Given the description of an element on the screen output the (x, y) to click on. 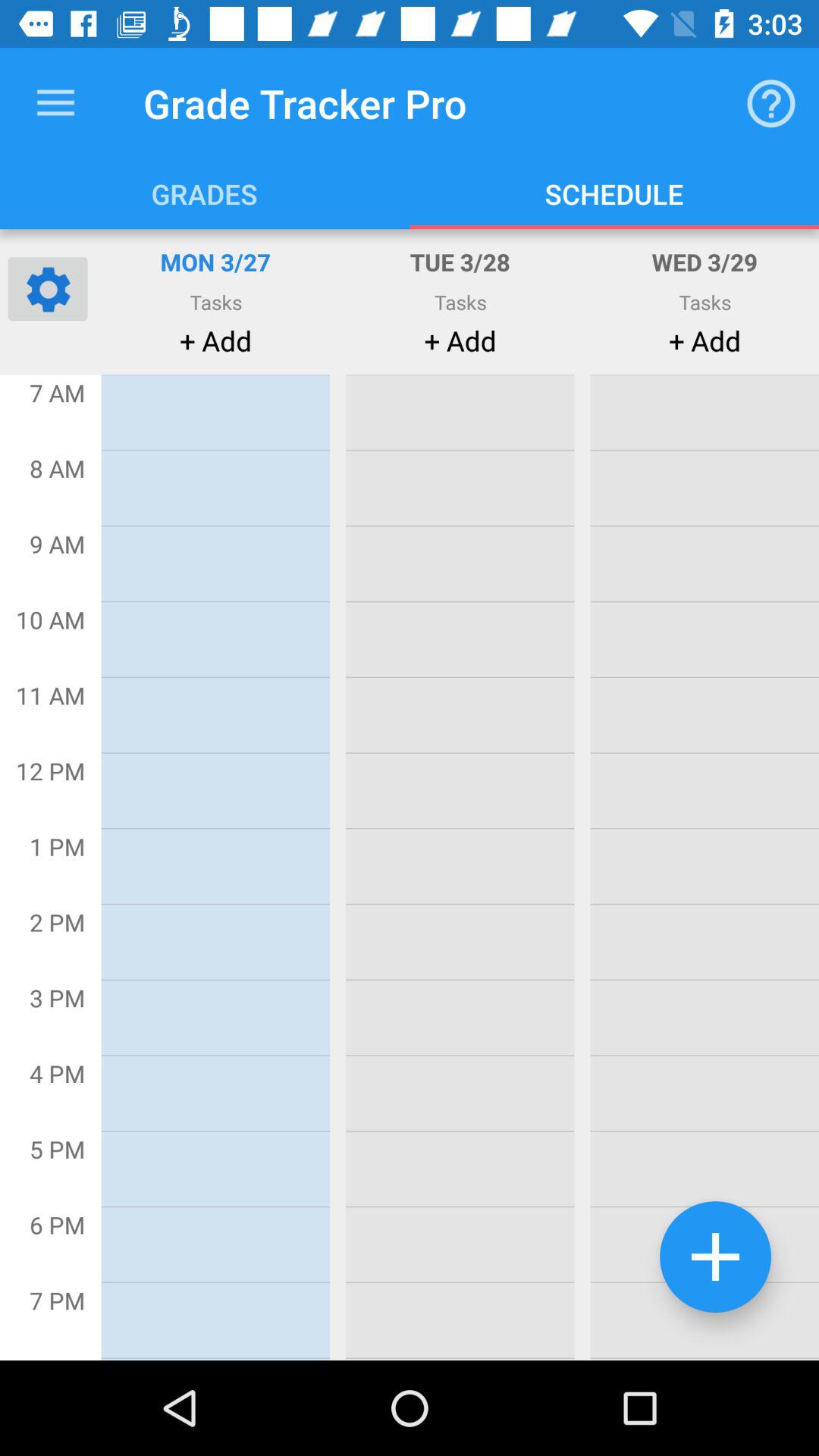
add option (715, 1256)
